Given the description of an element on the screen output the (x, y) to click on. 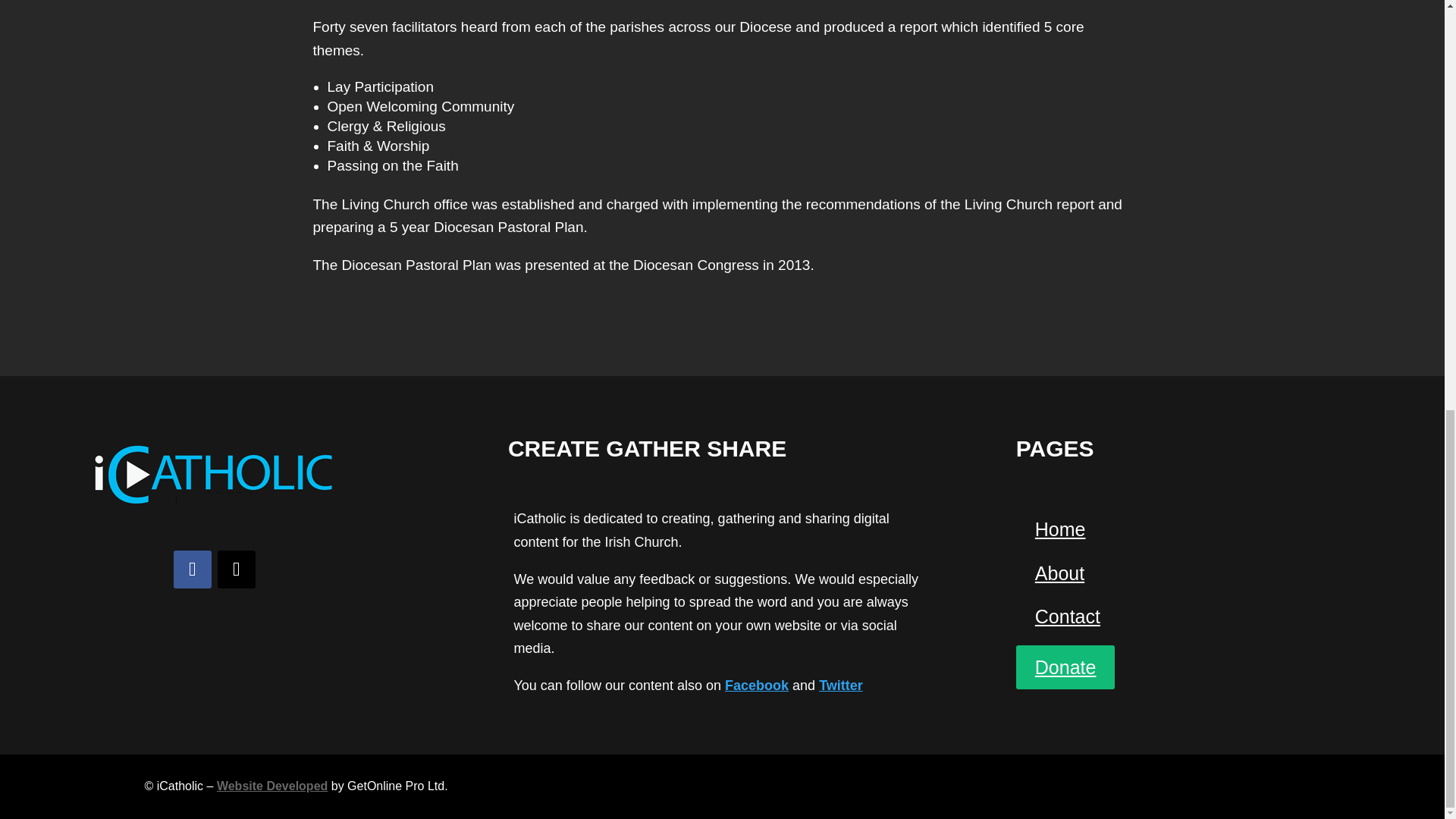
Follow on X (236, 569)
Follow on Facebook (192, 569)
iCatholic-logo-2021 (214, 474)
